Given the description of an element on the screen output the (x, y) to click on. 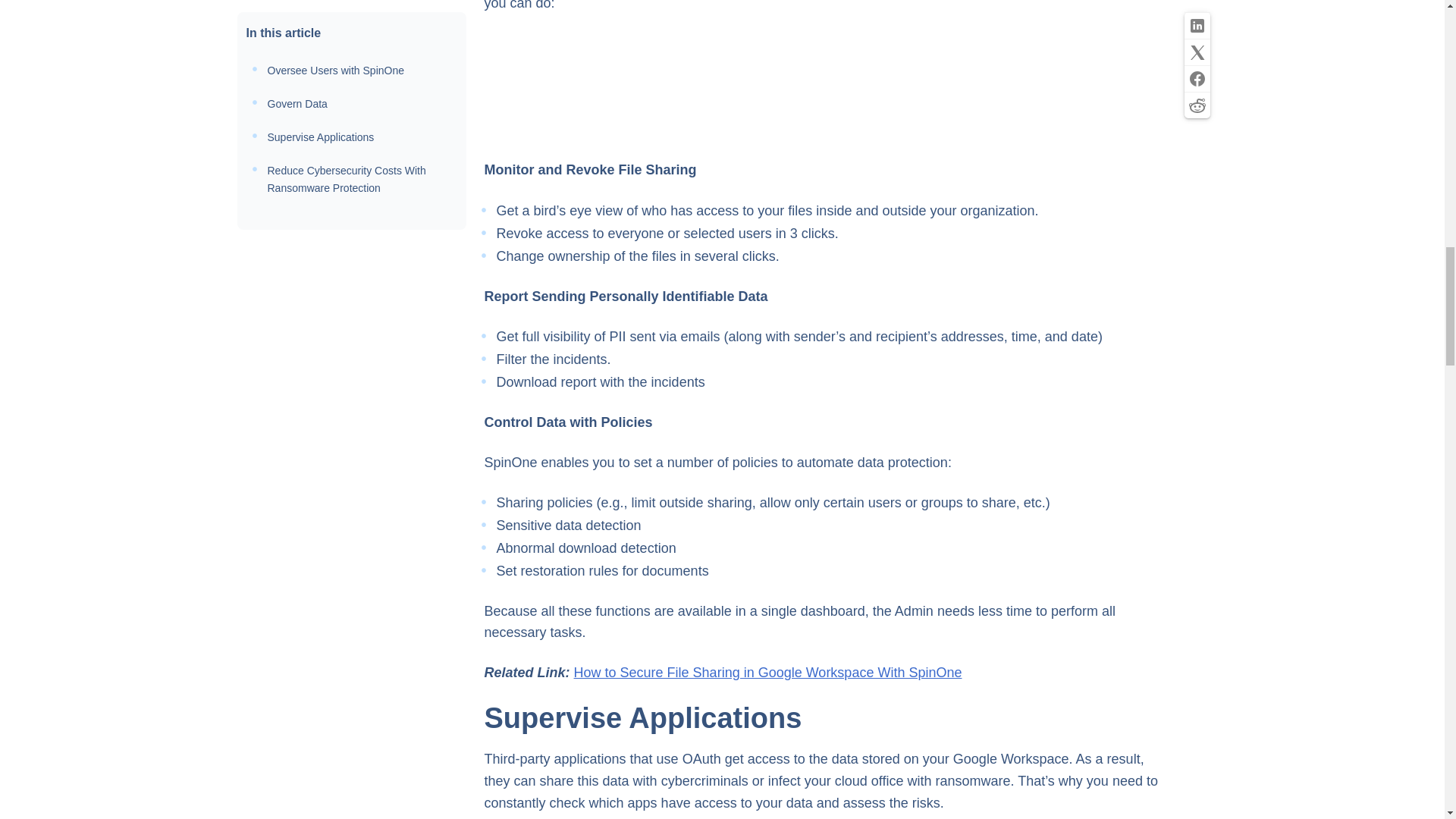
How to Secure File Sharing in Google Workspace With SpinOne (767, 672)
